Given the description of an element on the screen output the (x, y) to click on. 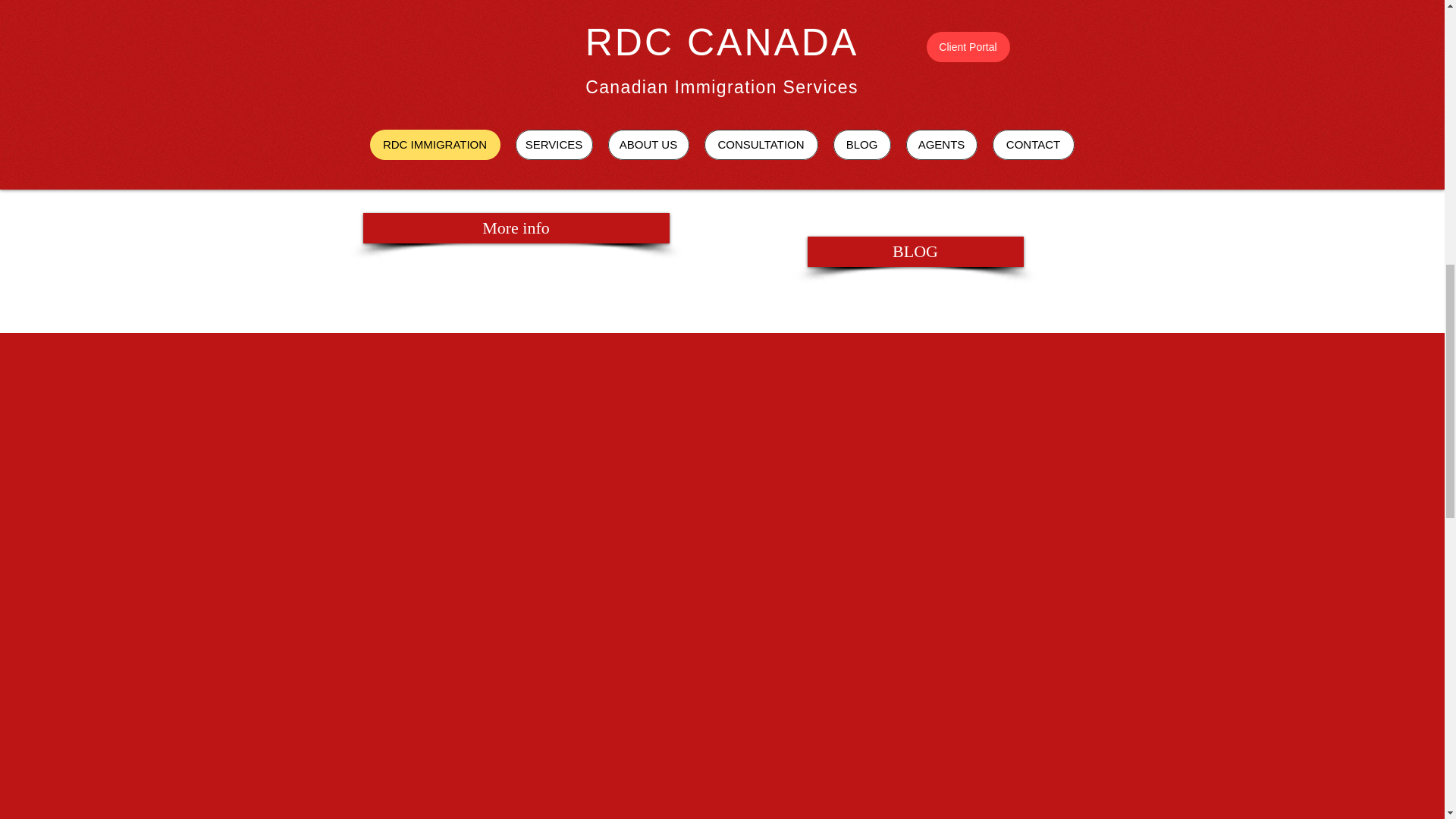
BLOG (914, 251)
More info (515, 227)
